Given the description of an element on the screen output the (x, y) to click on. 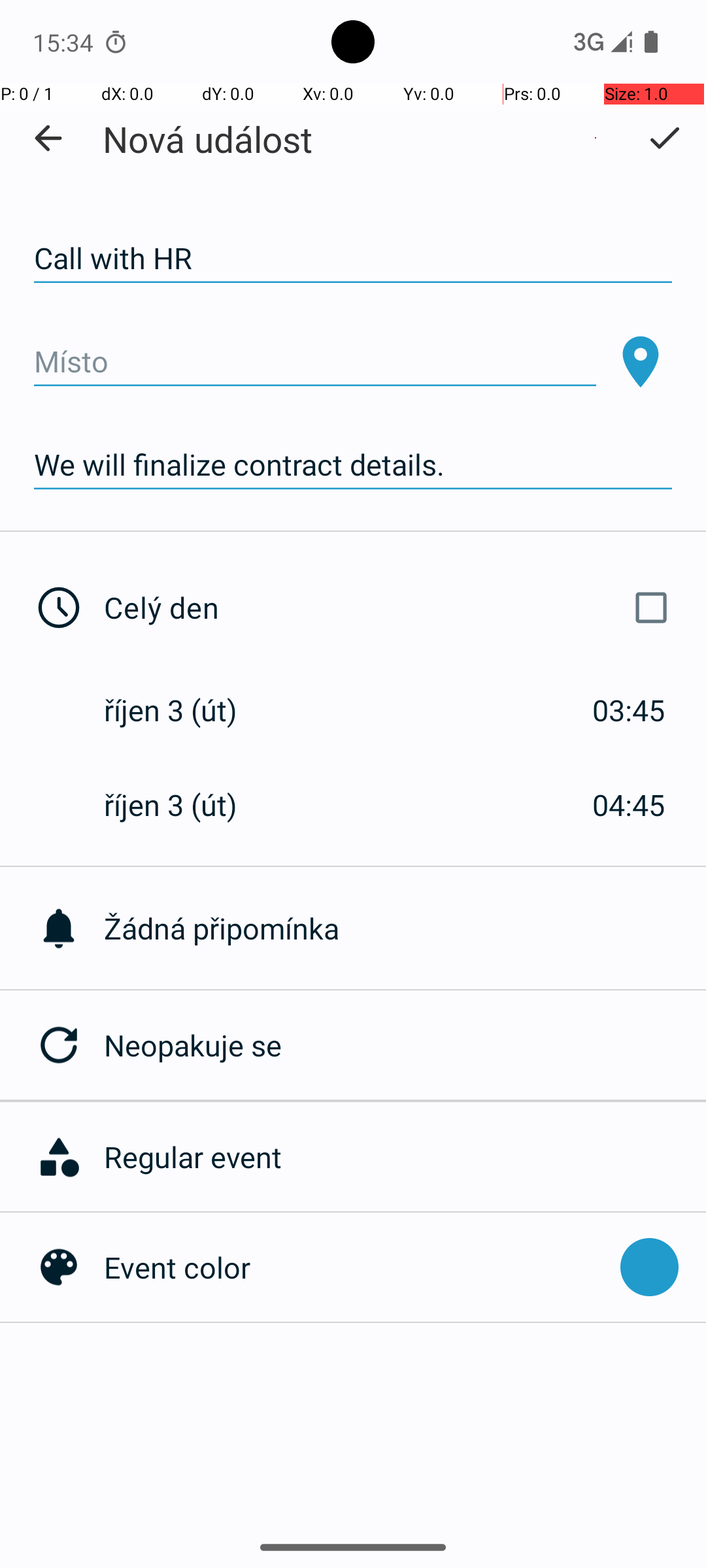
Uložit Element type: android.widget.Button (664, 137)
Místo Element type: android.widget.EditText (314, 361)
We will finalize contract details. Element type: android.widget.EditText (352, 465)
říjen 3 (út) Element type: android.widget.TextView (183, 709)
03:45 Element type: android.widget.TextView (628, 709)
04:45 Element type: android.widget.TextView (628, 804)
Žádná připomínka Element type: android.widget.TextView (404, 927)
Neopakuje se Element type: android.widget.TextView (404, 1044)
Celý den Element type: android.widget.CheckBox (390, 607)
